Given the description of an element on the screen output the (x, y) to click on. 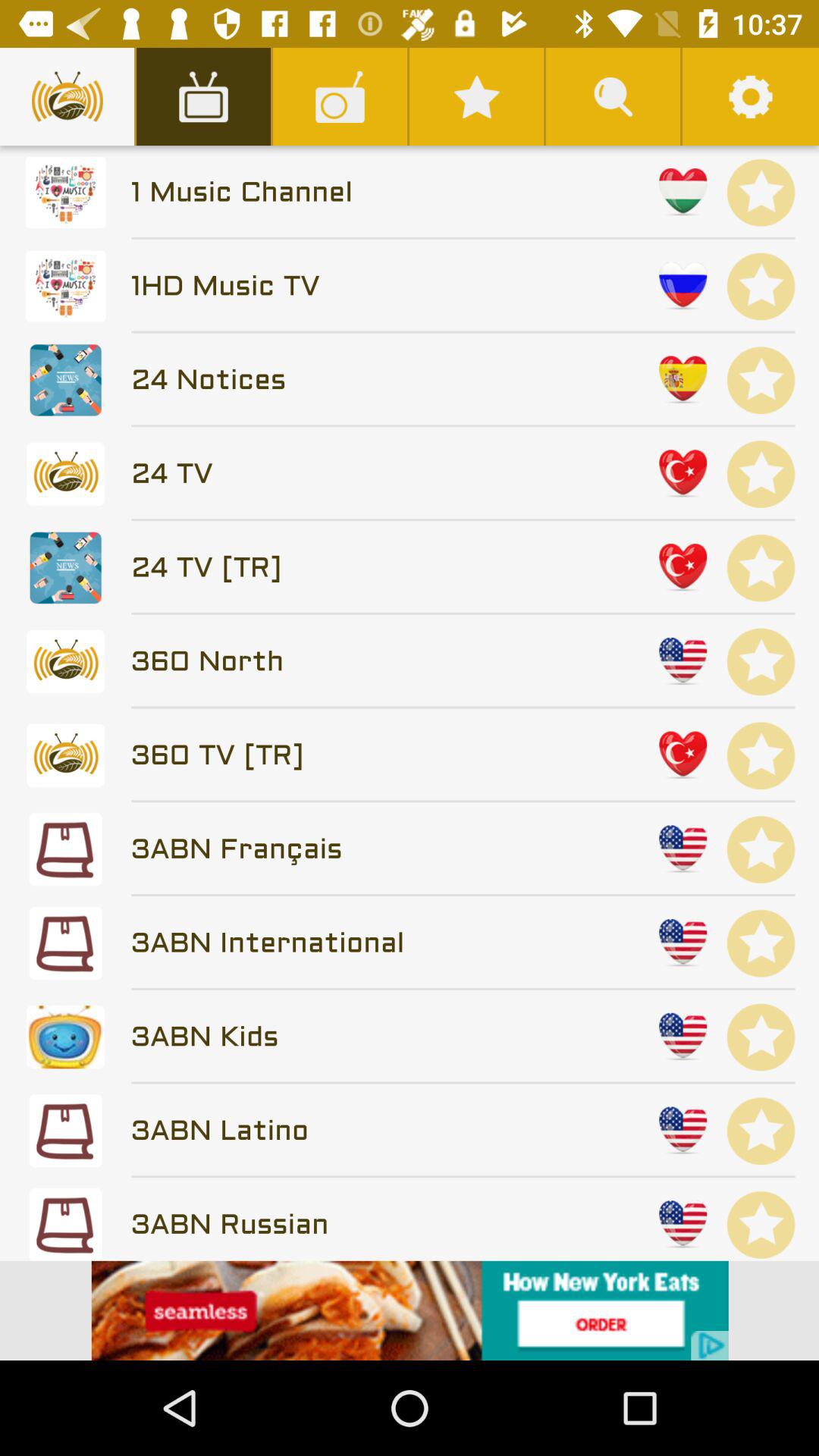
clickable advertisement (409, 1310)
